Given the description of an element on the screen output the (x, y) to click on. 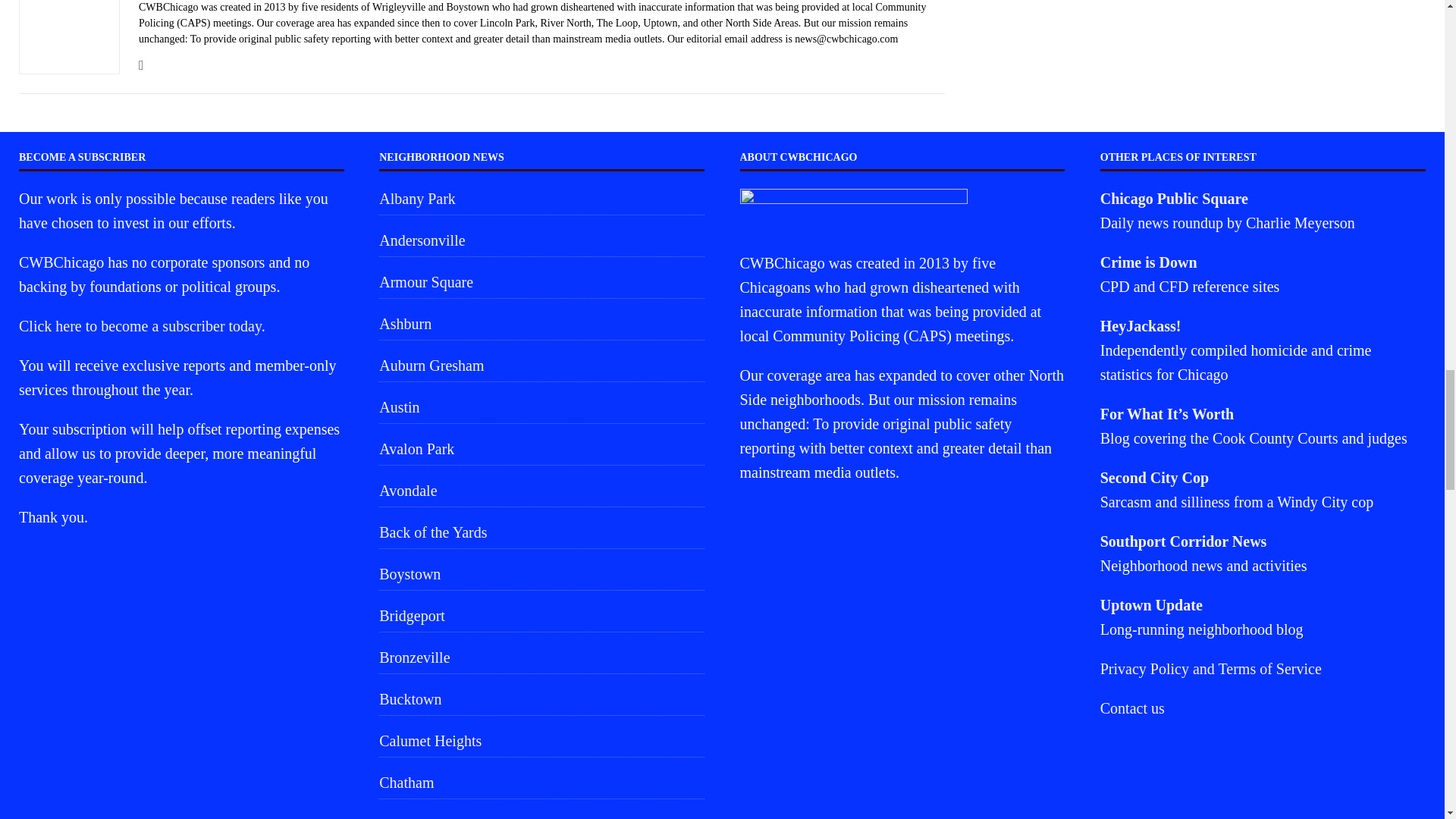
Albany Park (541, 200)
Austin (541, 407)
Armour Square (541, 282)
Auburn Gresham (541, 365)
Back of the Yards (541, 531)
Click here to become a subscriber today. (141, 325)
Avondale (541, 490)
Avalon Park (541, 449)
Andersonville (541, 240)
Ashburn (541, 323)
